Given the description of an element on the screen output the (x, y) to click on. 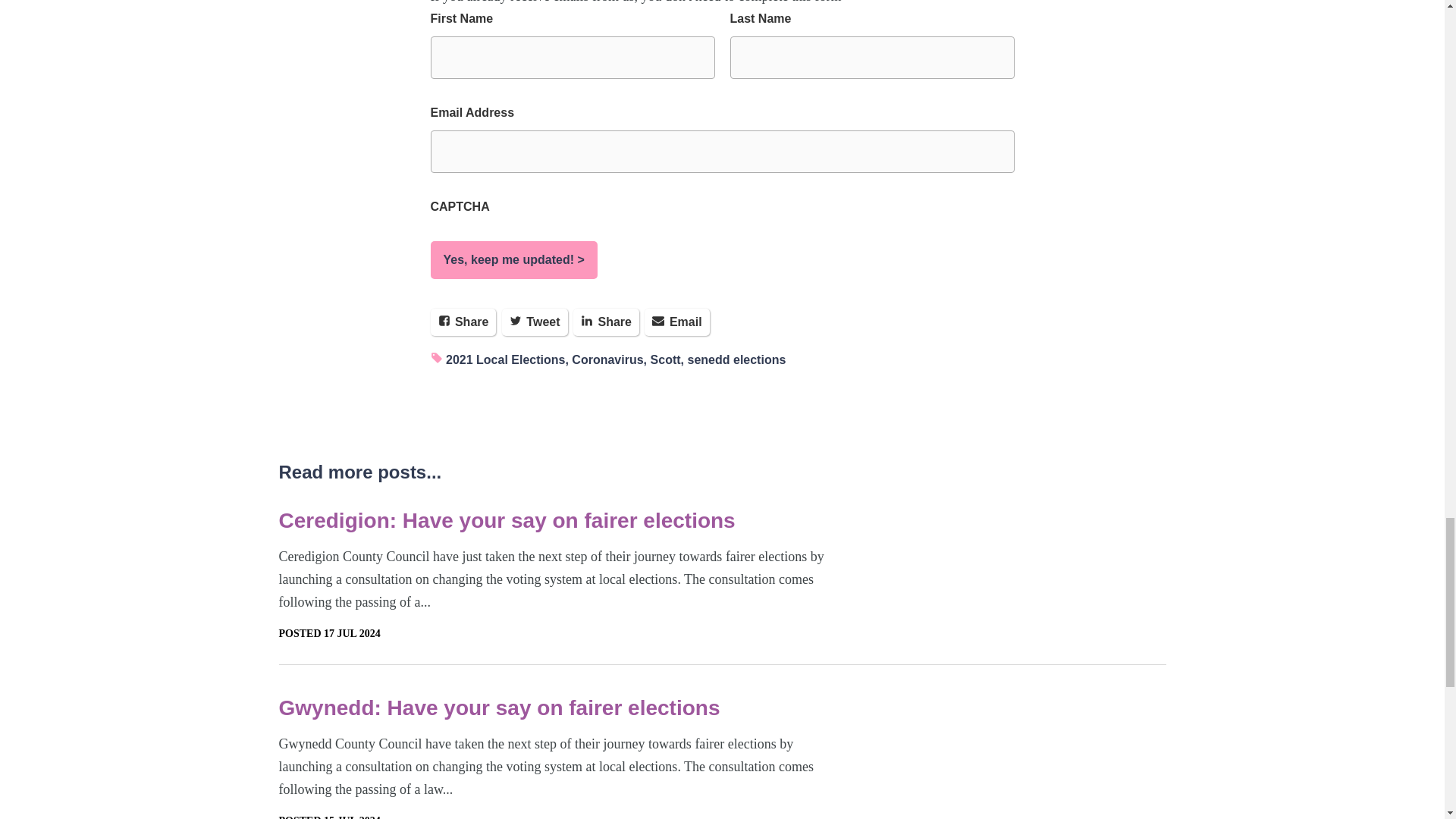
Share on Facebook (463, 321)
Share via Email (677, 321)
Tweet this page (534, 321)
Share on LinkedIn (606, 321)
